Given the description of an element on the screen output the (x, y) to click on. 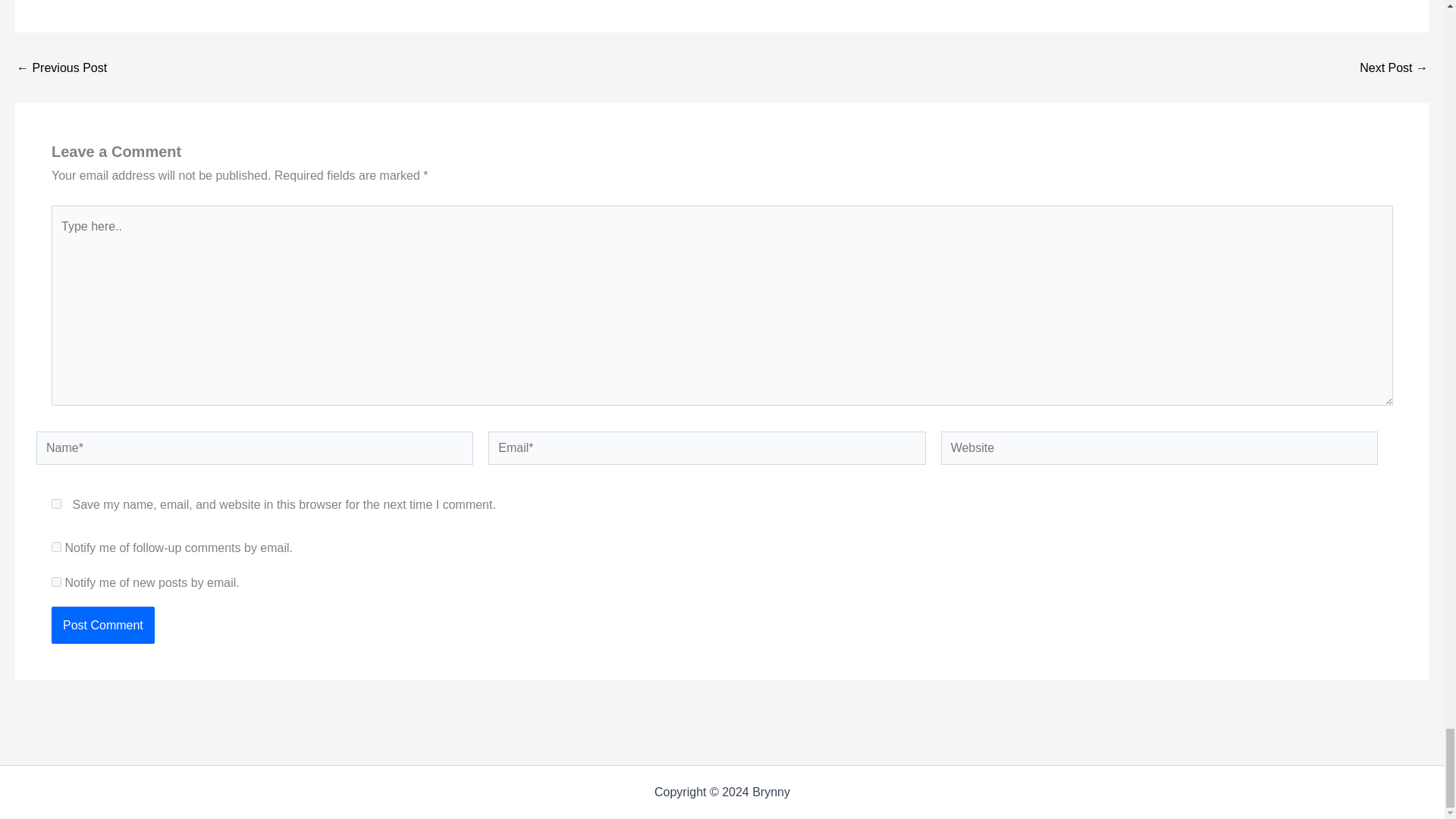
The 12 Best Superhero Movies and TV Series of 2023 (1393, 68)
Post Comment (102, 625)
subscribe (55, 547)
The 10 Best Angelina Jolie Action Movies (61, 68)
subscribe (55, 582)
yes (55, 503)
Post Comment (102, 625)
